Given the description of an element on the screen output the (x, y) to click on. 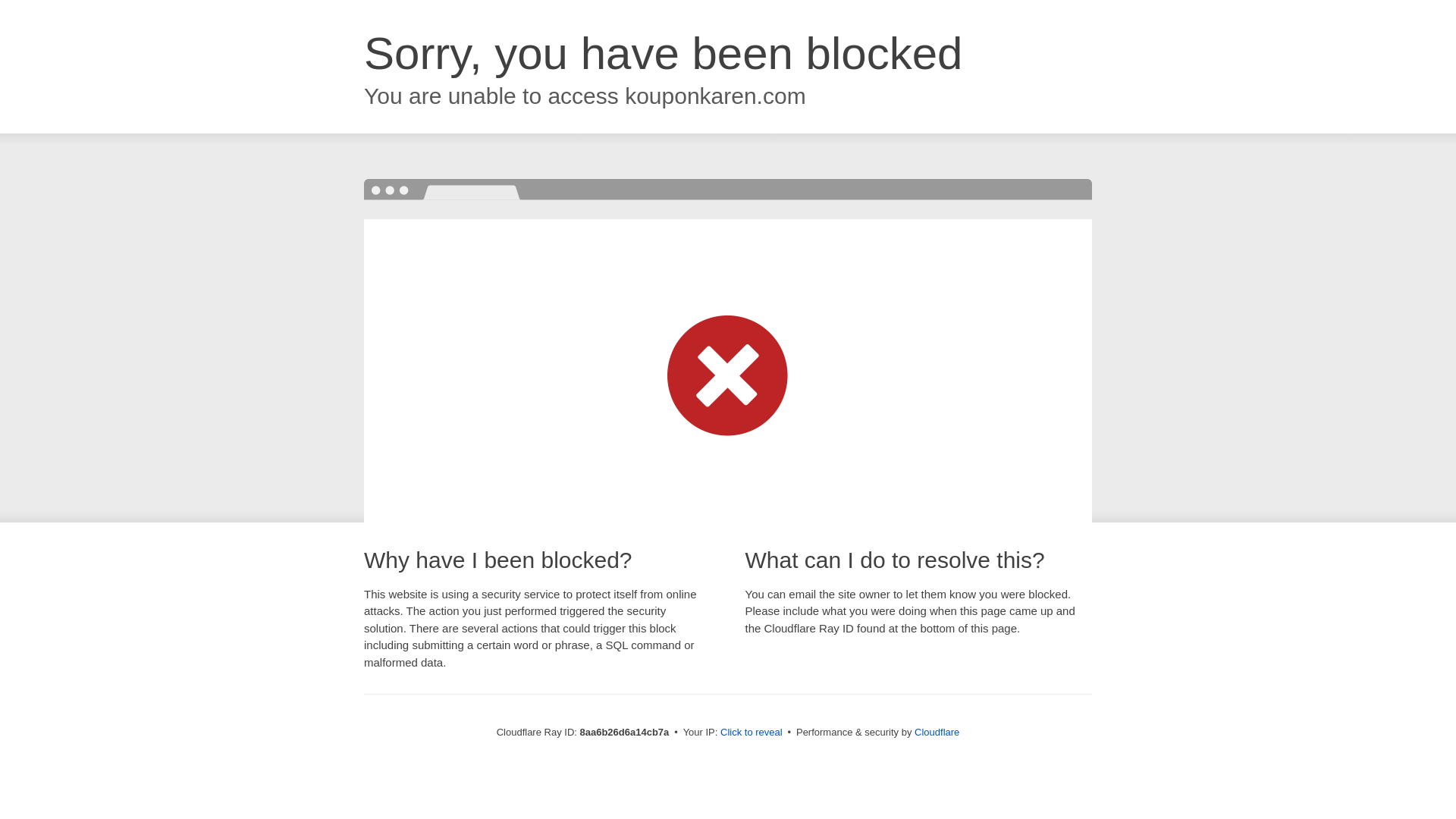
Cloudflare (936, 731)
Click to reveal (751, 732)
